Given the description of an element on the screen output the (x, y) to click on. 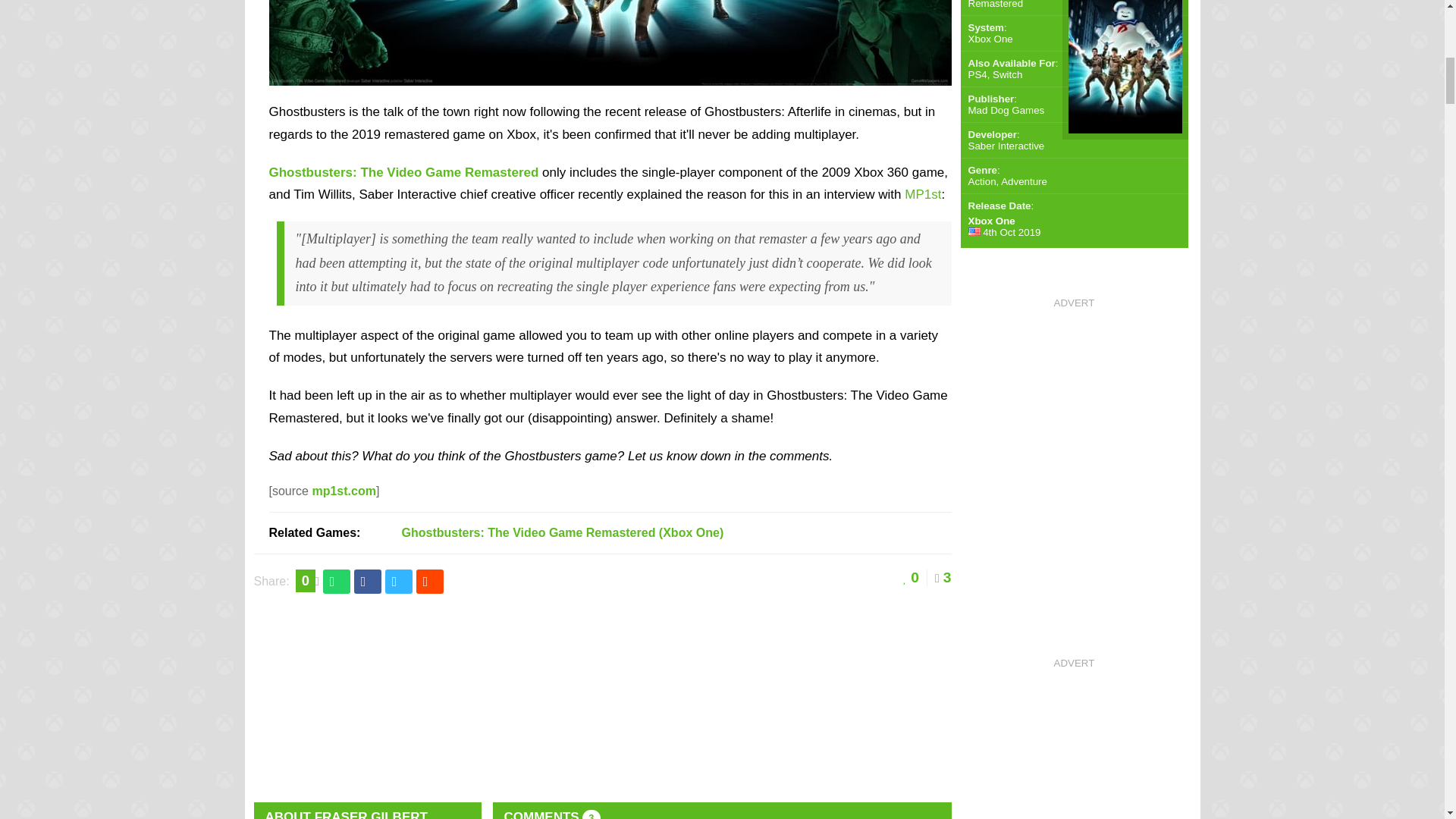
Share this on WhatsApp (336, 581)
Share this on Twitter (398, 581)
Share this on Facebook (367, 581)
